Given the description of an element on the screen output the (x, y) to click on. 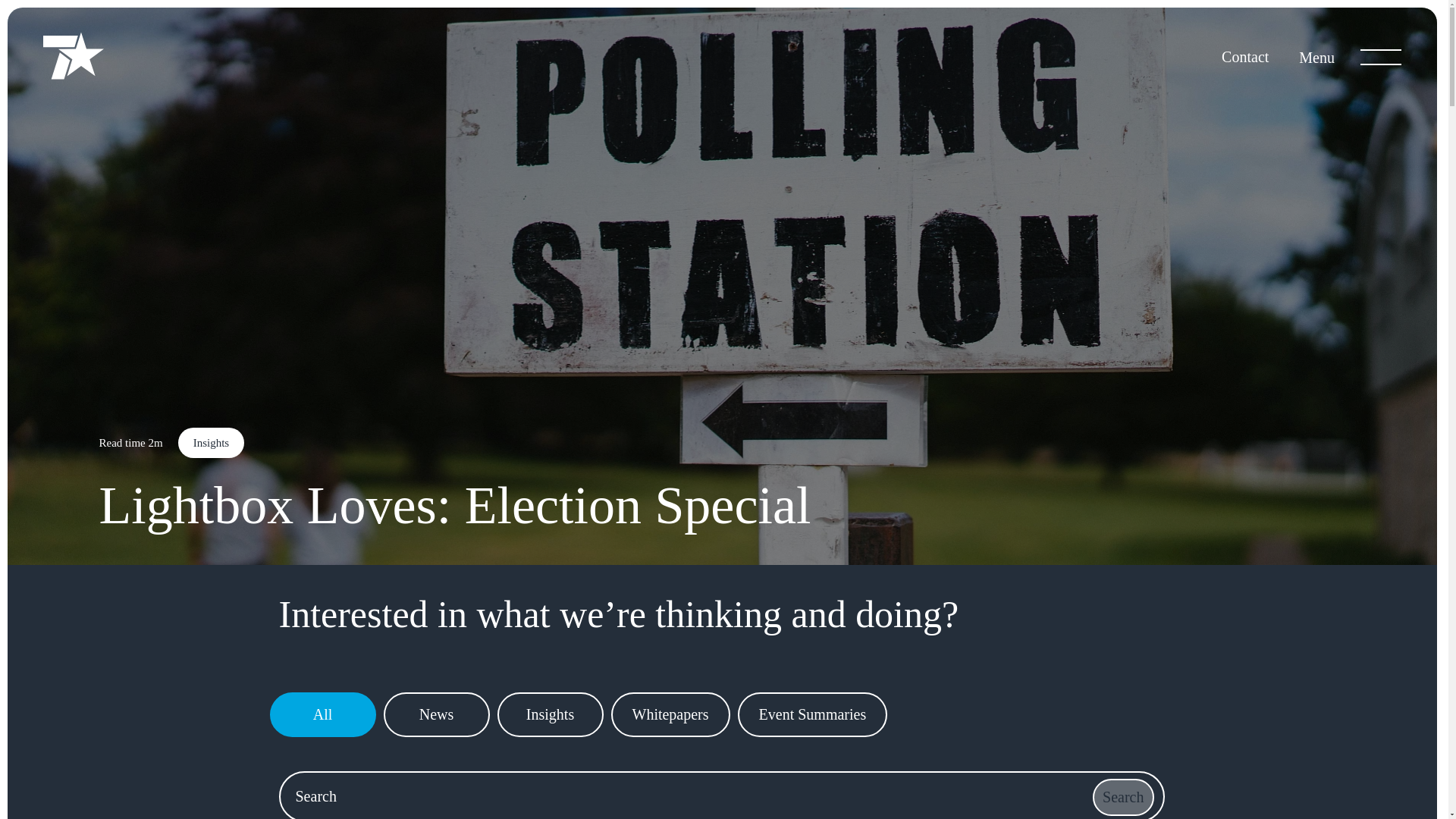
News (436, 714)
Whitepapers (670, 714)
Lightbox Loves: Election Special (454, 479)
Search (1123, 796)
Contact (1244, 56)
All (322, 714)
Insights (550, 714)
Event Summaries (813, 714)
